Given the description of an element on the screen output the (x, y) to click on. 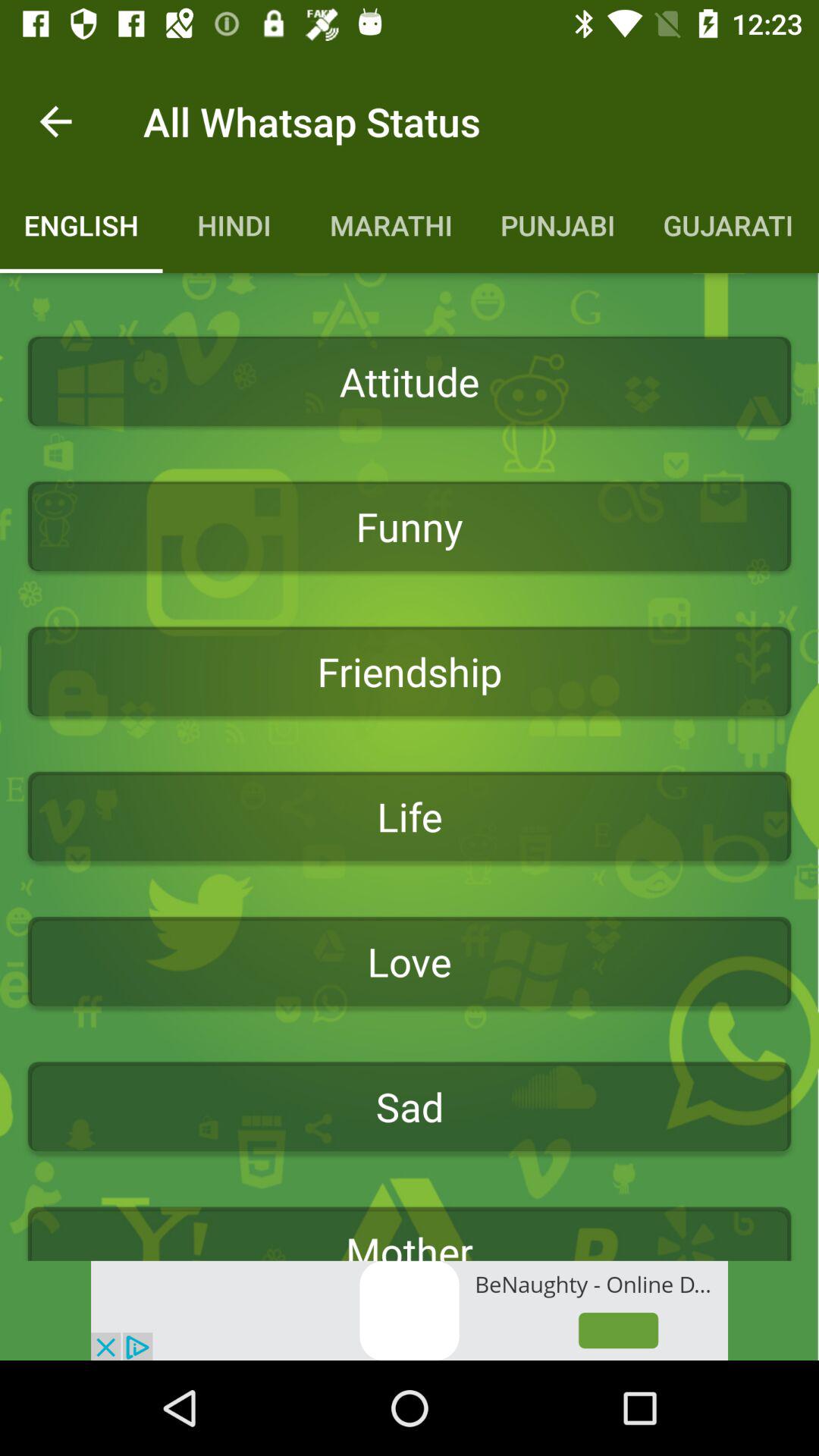
its an advertisement (409, 1310)
